Given the description of an element on the screen output the (x, y) to click on. 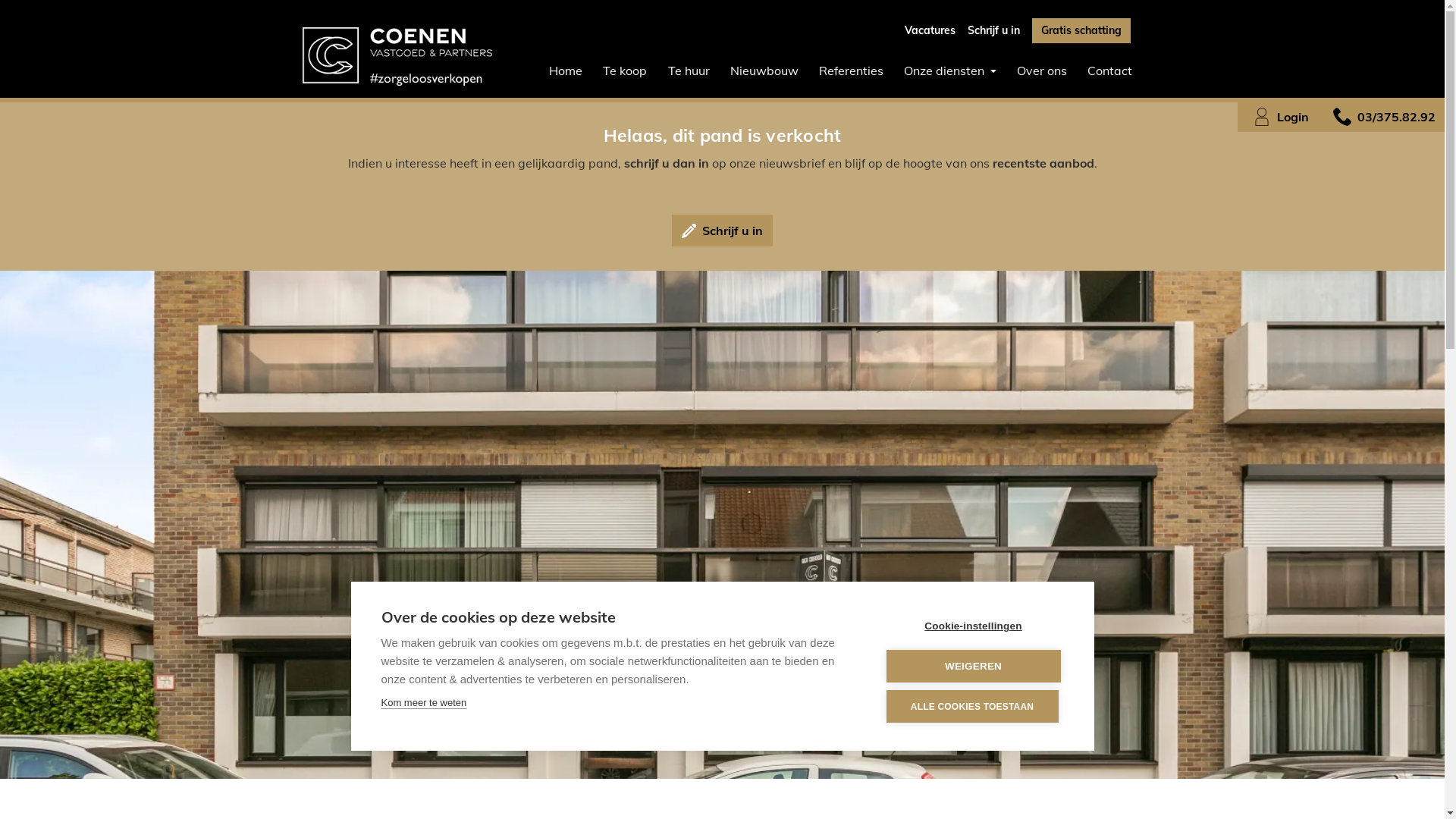
Login Element type: text (1277, 116)
Nieuwbouw Element type: text (763, 70)
03/375.82.92 Element type: text (1380, 116)
Home Element type: text (566, 70)
Vacatures Element type: text (928, 30)
Schrijf u in Element type: text (993, 30)
Cookie-instellingen Element type: text (972, 625)
WEIGEREN Element type: text (972, 665)
Referenties Element type: text (850, 70)
Kom meer te weten Element type: text (423, 702)
Onze diensten Element type: text (950, 70)
Menu overslaan en naar de inhoud gaan Element type: text (0, 0)
Over ons Element type: text (1041, 70)
Te koop Element type: text (625, 70)
ALLE COOKIES TOESTAAN Element type: text (971, 706)
Te huur Element type: text (688, 70)
Gratis schatting Element type: text (1080, 30)
Contact Element type: text (1109, 70)
Schrijf u in Element type: text (721, 230)
Link homepage Element type: hover (396, 56)
